Given the description of an element on the screen output the (x, y) to click on. 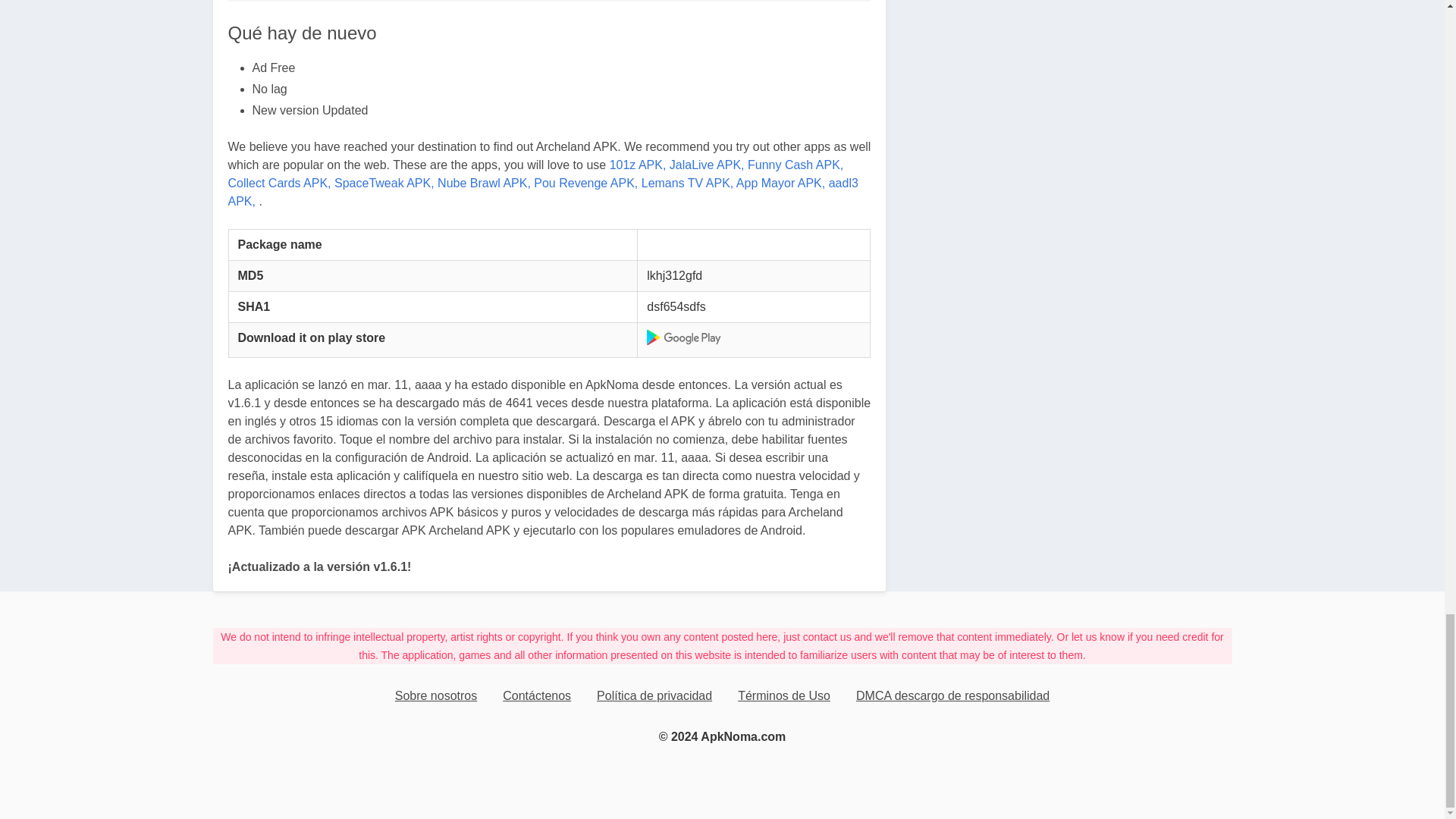
JalaLive APK APK (706, 164)
SpaceTweak APK APK (383, 182)
Nube Brawl APK APK (484, 182)
Lemans TV APK APK (687, 182)
App Mayor APK APK (780, 182)
Collect Cards APK APK (278, 182)
Pou Revenge APK APK (585, 182)
aadl3 APK APK (542, 192)
101z APK APK (638, 164)
Funny Cash APK APK (795, 164)
Download Archeland From Play Store (684, 336)
